Given the description of an element on the screen output the (x, y) to click on. 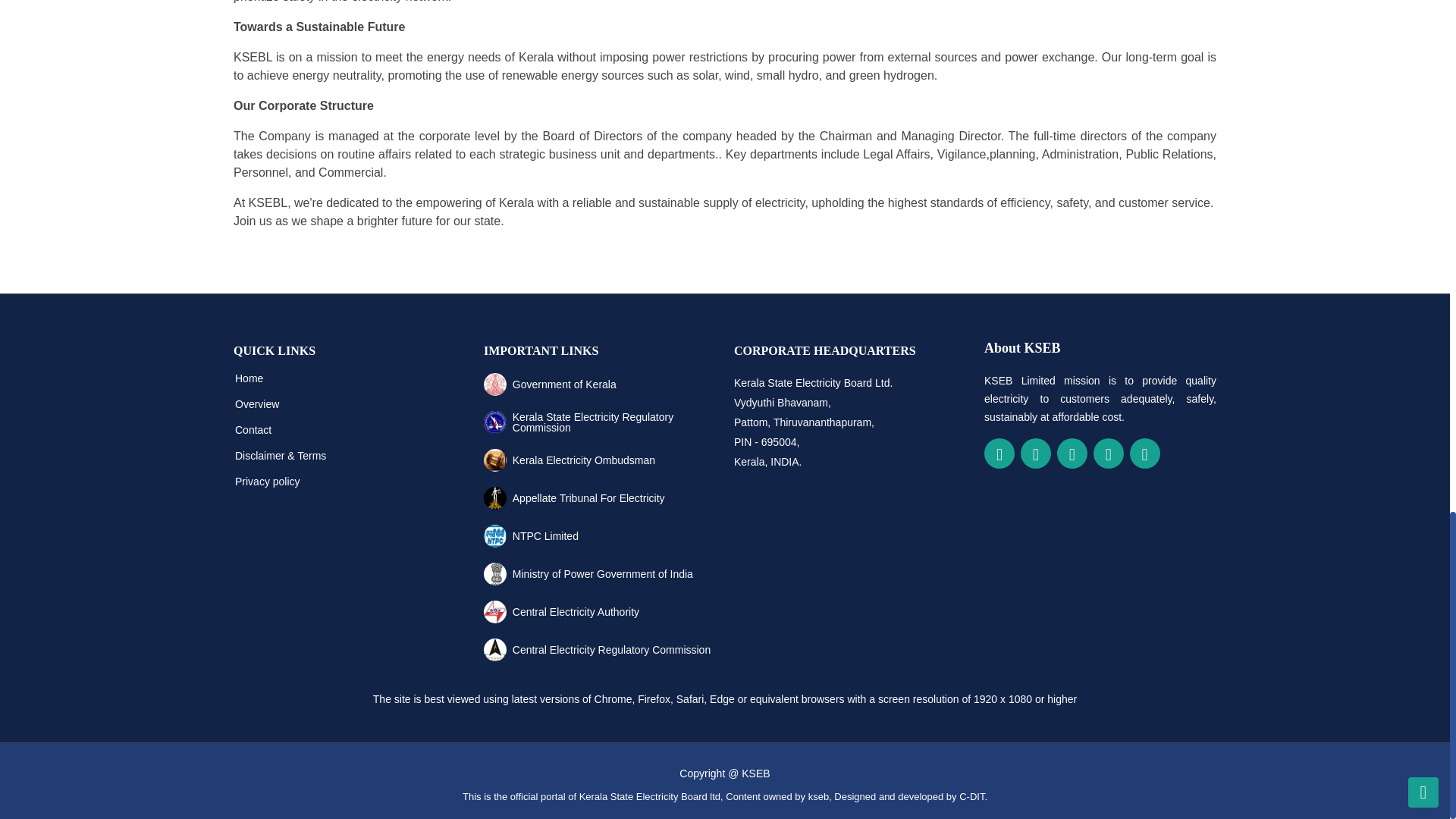
Overview (256, 403)
Contact (252, 429)
Privacy policy (266, 480)
Home (248, 378)
